Given the description of an element on the screen output the (x, y) to click on. 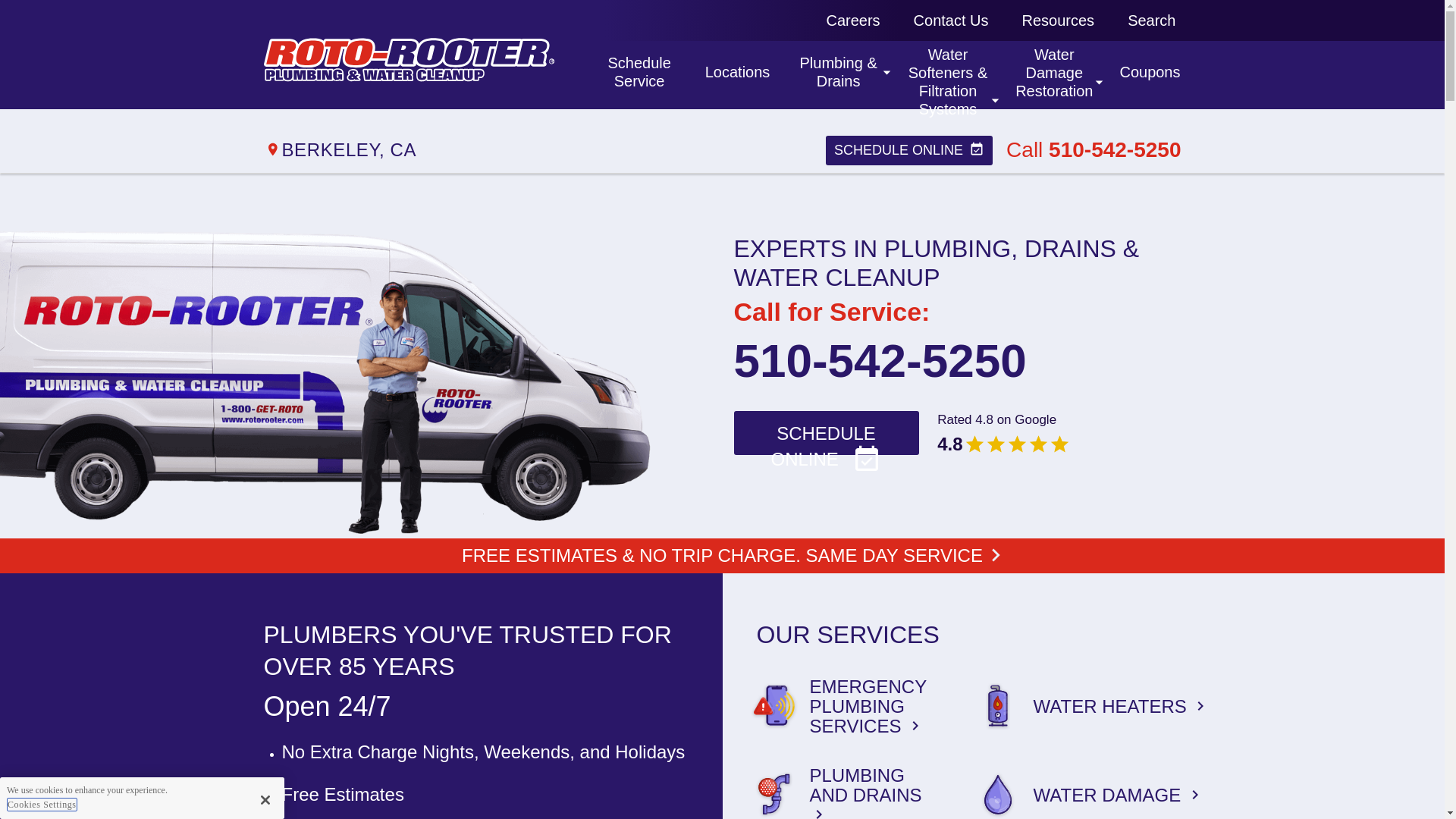
Contact Us (951, 20)
Resources (1053, 75)
Search (1059, 20)
Locations (637, 74)
Careers (1151, 20)
